Given the description of an element on the screen output the (x, y) to click on. 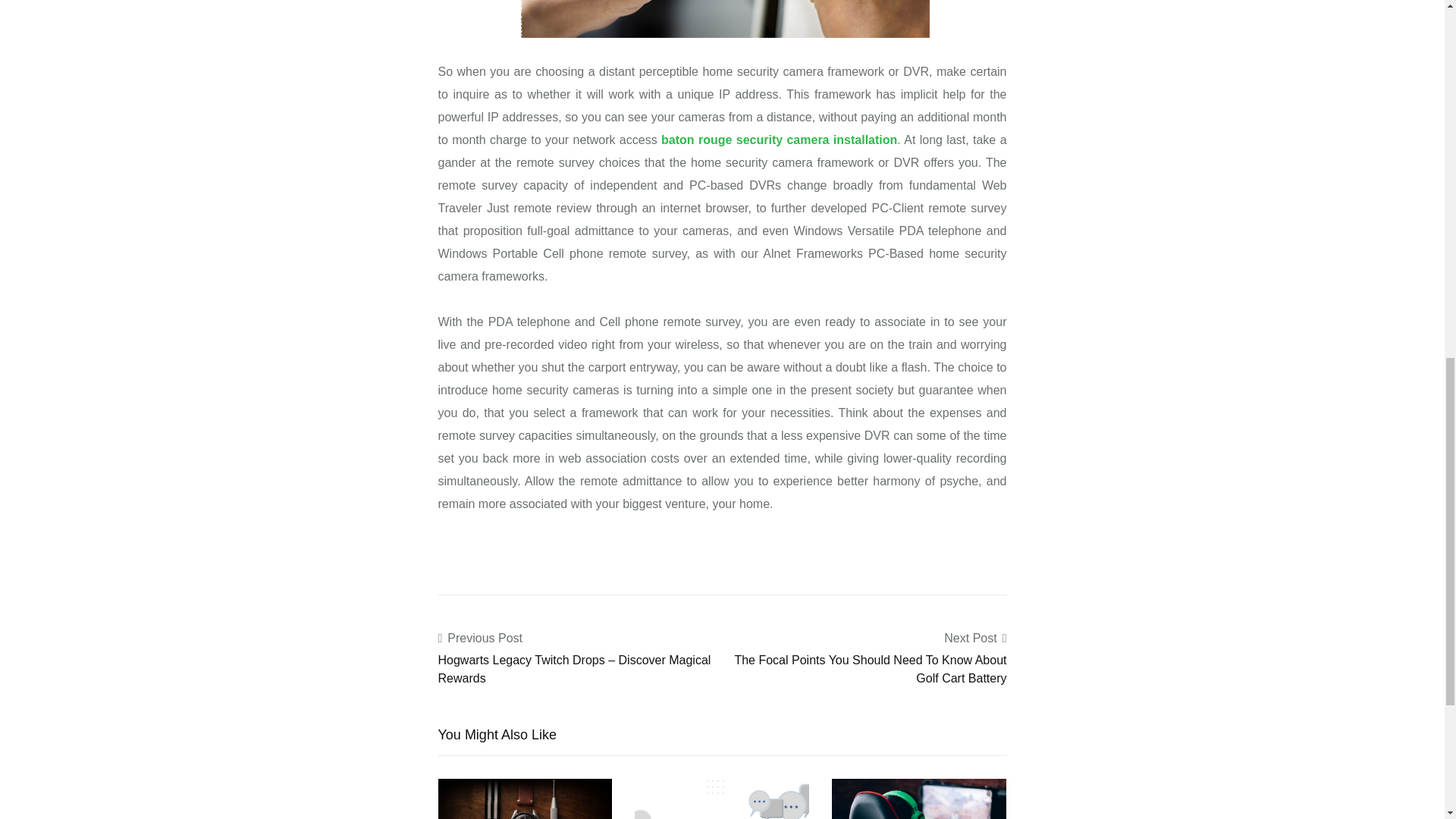
baton rouge security camera installation (778, 139)
